Given the description of an element on the screen output the (x, y) to click on. 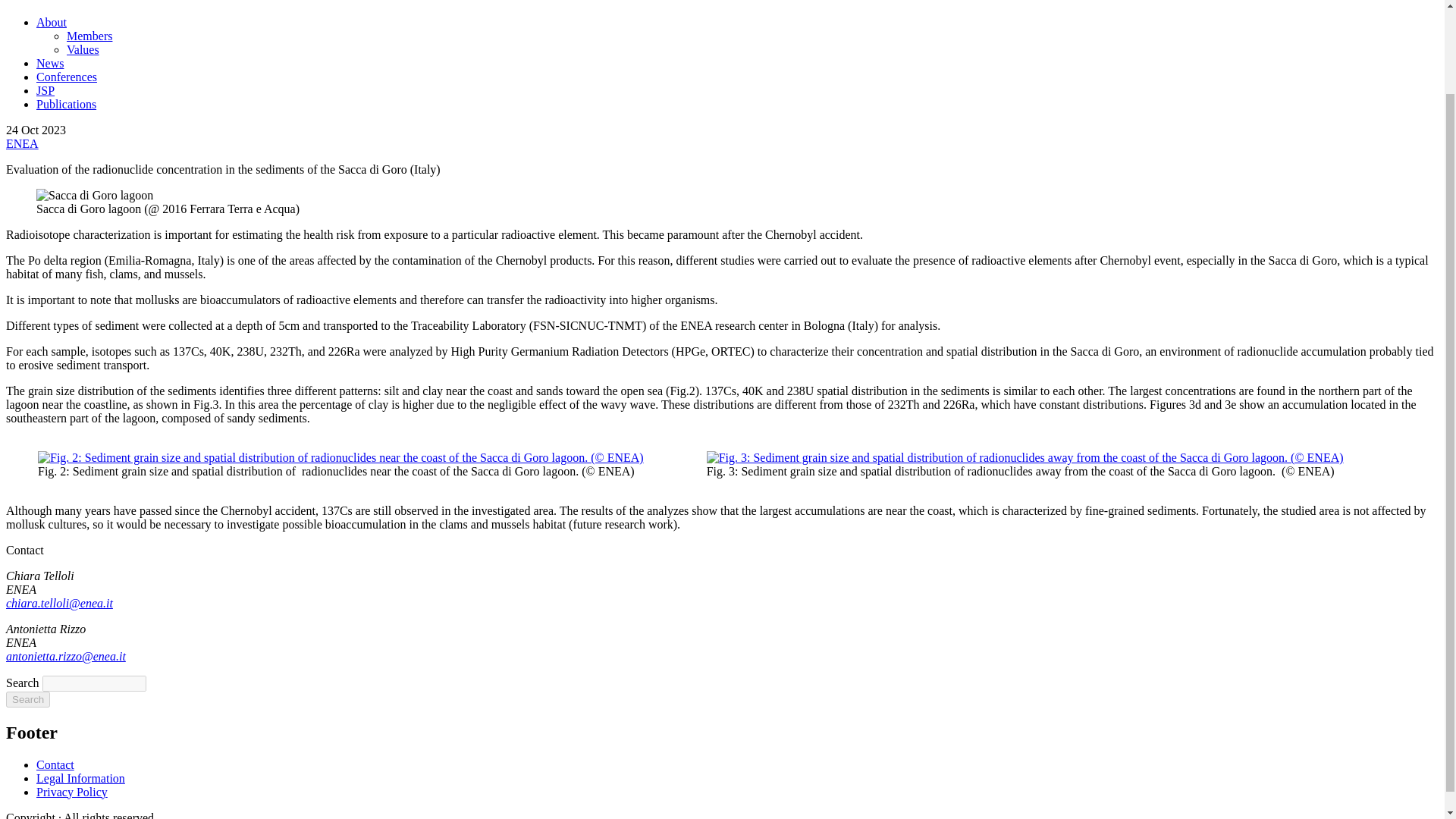
News (50, 62)
ENEA (22, 143)
Values (82, 49)
Publications (66, 103)
Privacy Policy (71, 791)
Legal Information (80, 778)
Enter the terms you wish to search for. (94, 683)
Conferences (66, 76)
About (51, 21)
Search (27, 699)
Members (89, 35)
Contact (55, 764)
JSP (45, 90)
Search (27, 699)
